Given the description of an element on the screen output the (x, y) to click on. 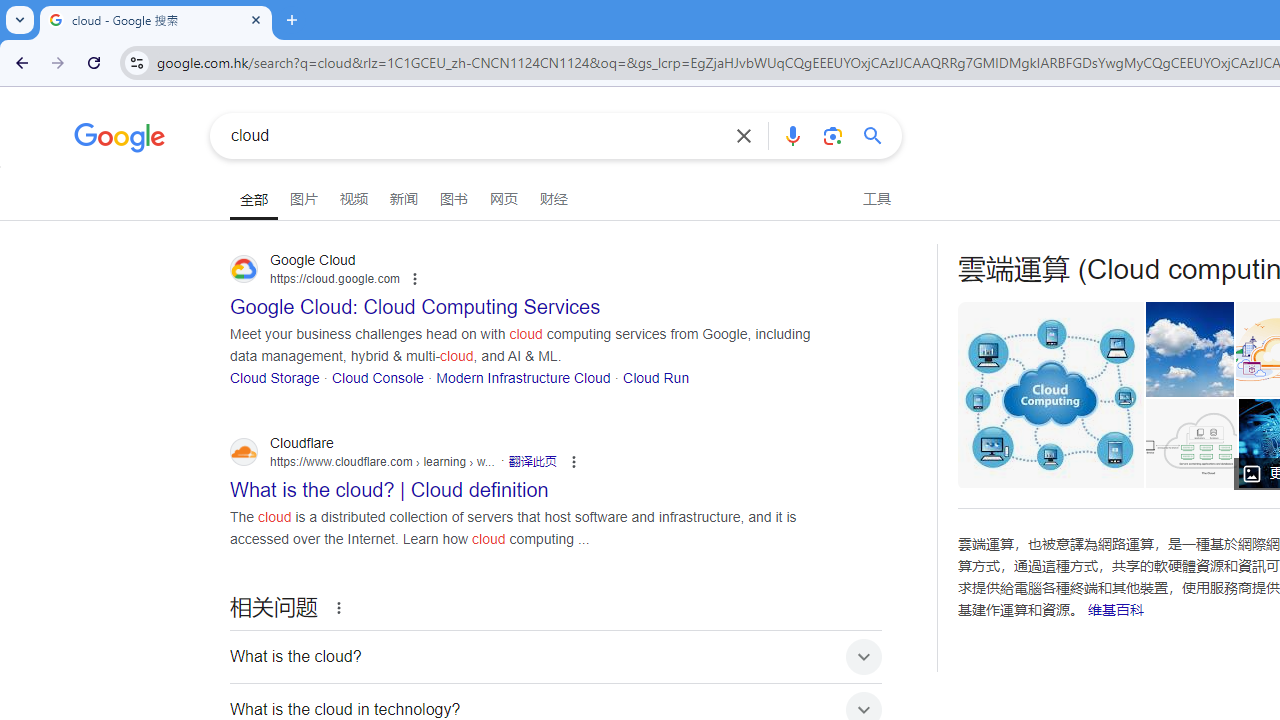
Cloud Run (656, 376)
What is the cloud? (555, 656)
What is the cloud? | Cloud definition | Cloudflare (1196, 443)
What is the cloud? | Cloud definition | Cloudflare (1190, 443)
